Given the description of an element on the screen output the (x, y) to click on. 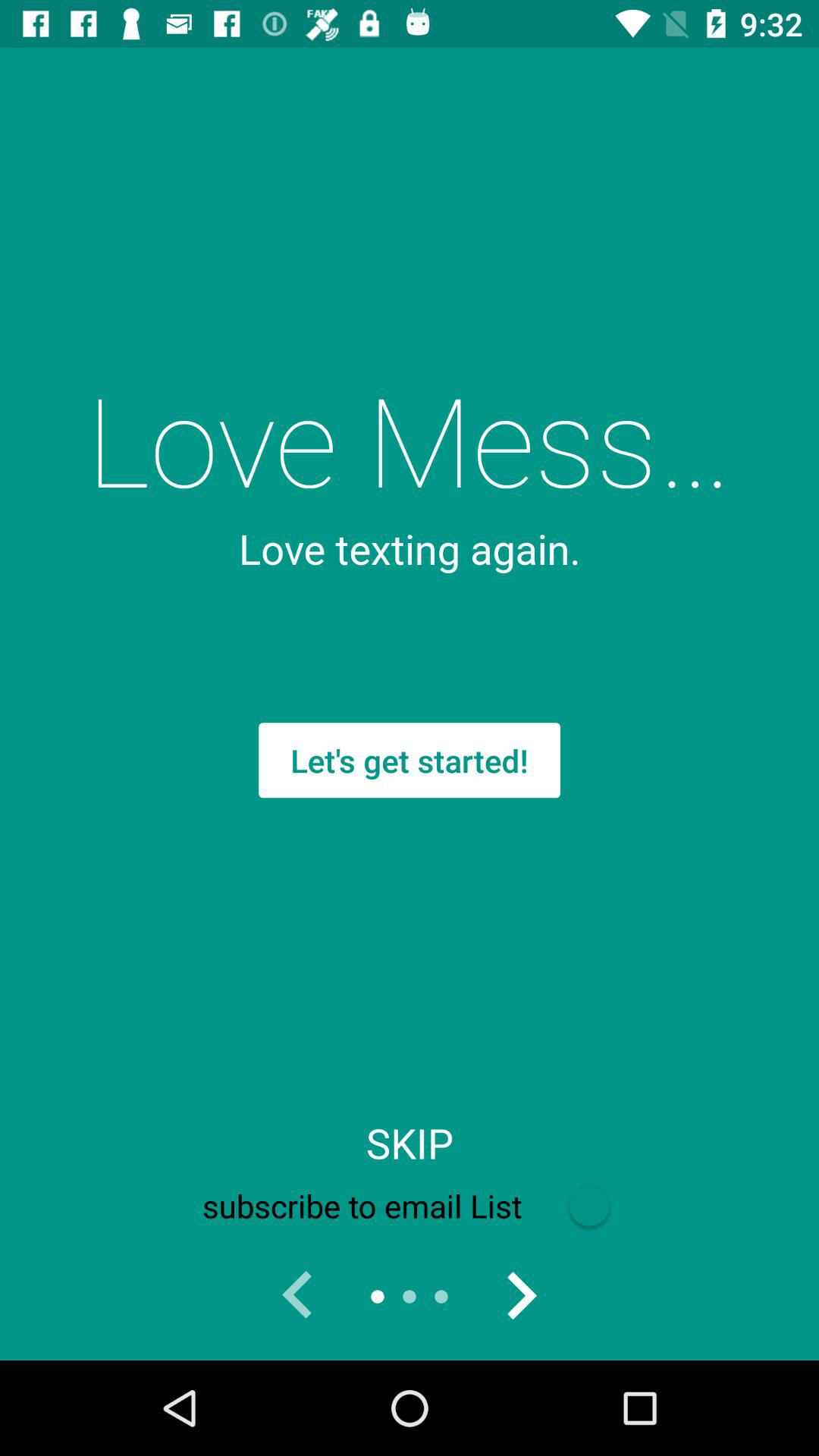
flip to subscribe to email item (409, 1206)
